Given the description of an element on the screen output the (x, y) to click on. 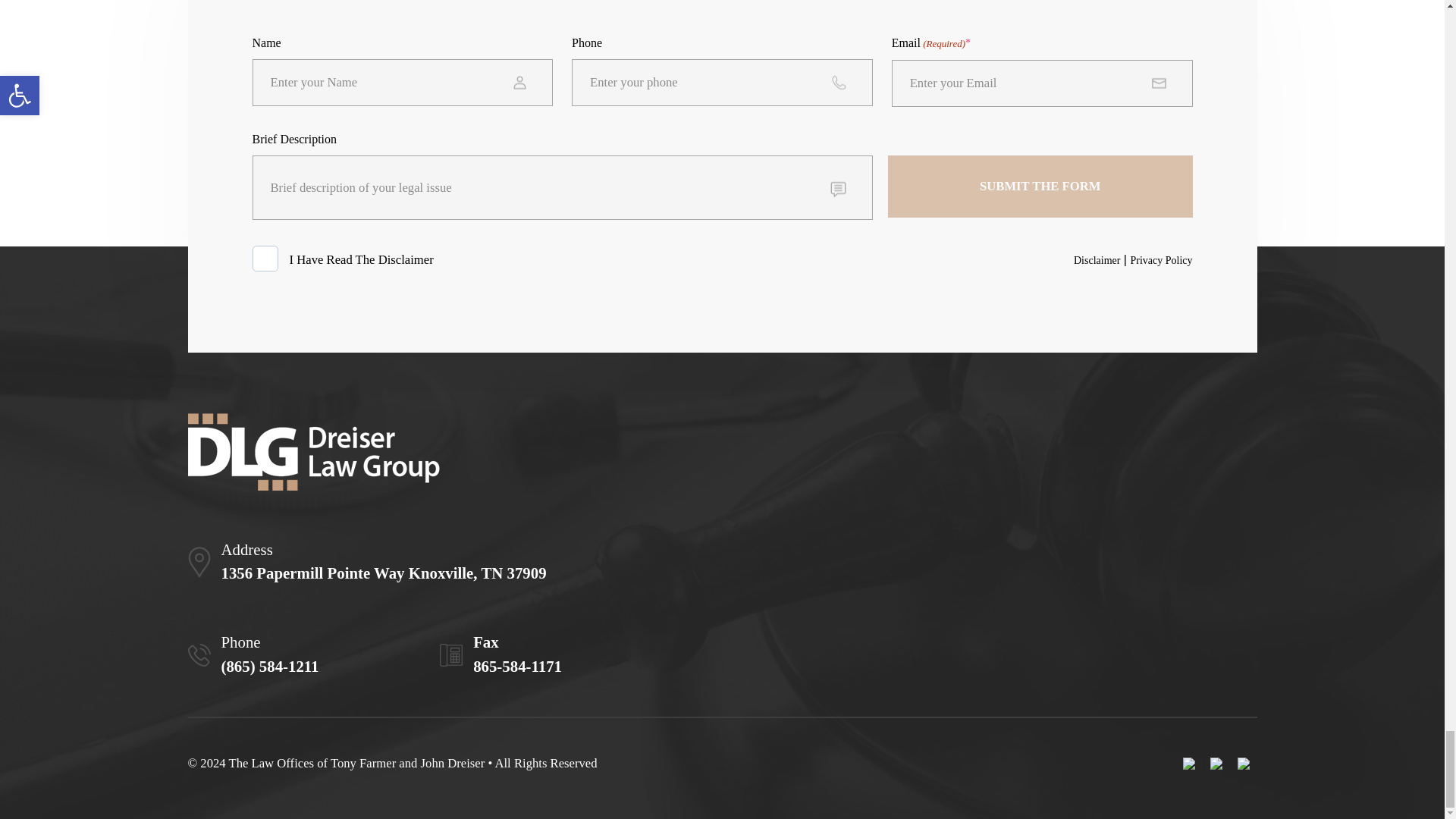
Submit the form (1040, 186)
